Given the description of an element on the screen output the (x, y) to click on. 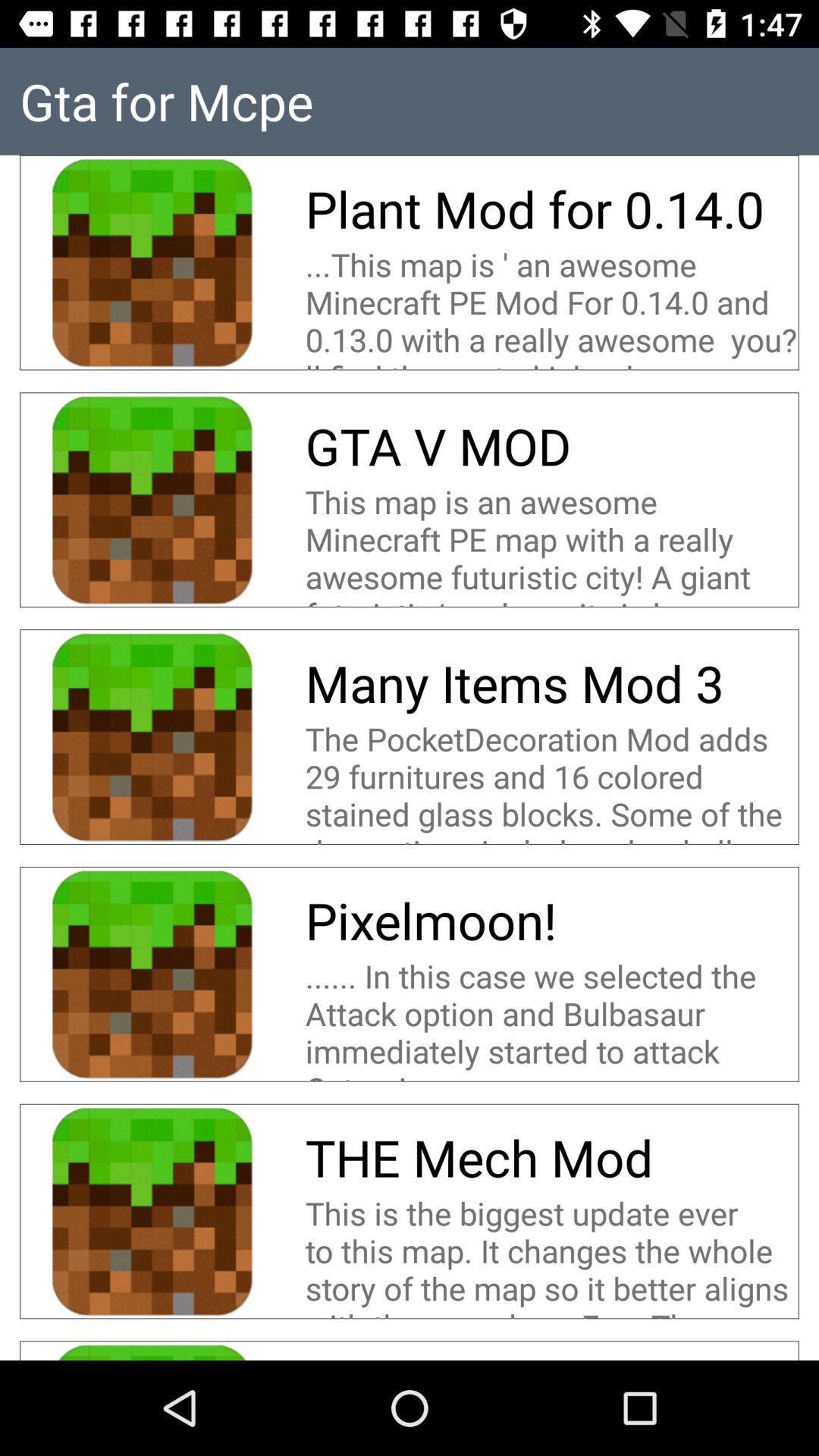
turn off the pocketdecoration mod (552, 780)
